Given the description of an element on the screen output the (x, y) to click on. 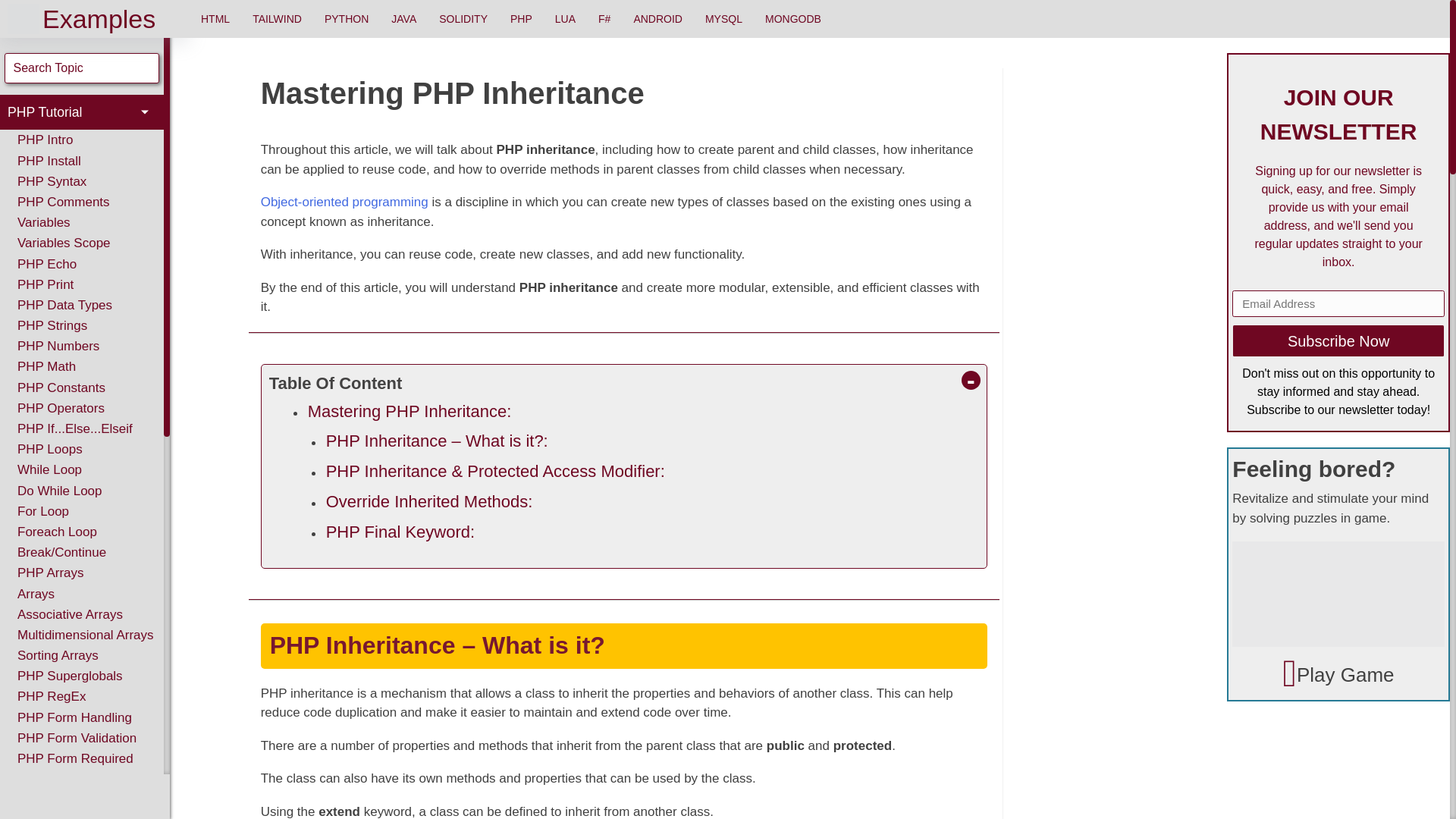
PHP Tutorial (81, 112)
PHP Comments (63, 201)
HTML (215, 18)
PHP Print (45, 284)
PHP Syntax (51, 181)
Variables (43, 221)
PHP Data Types (64, 304)
collapse (969, 379)
ANDROID (657, 18)
Subscribe Now (1337, 340)
